Given the description of an element on the screen output the (x, y) to click on. 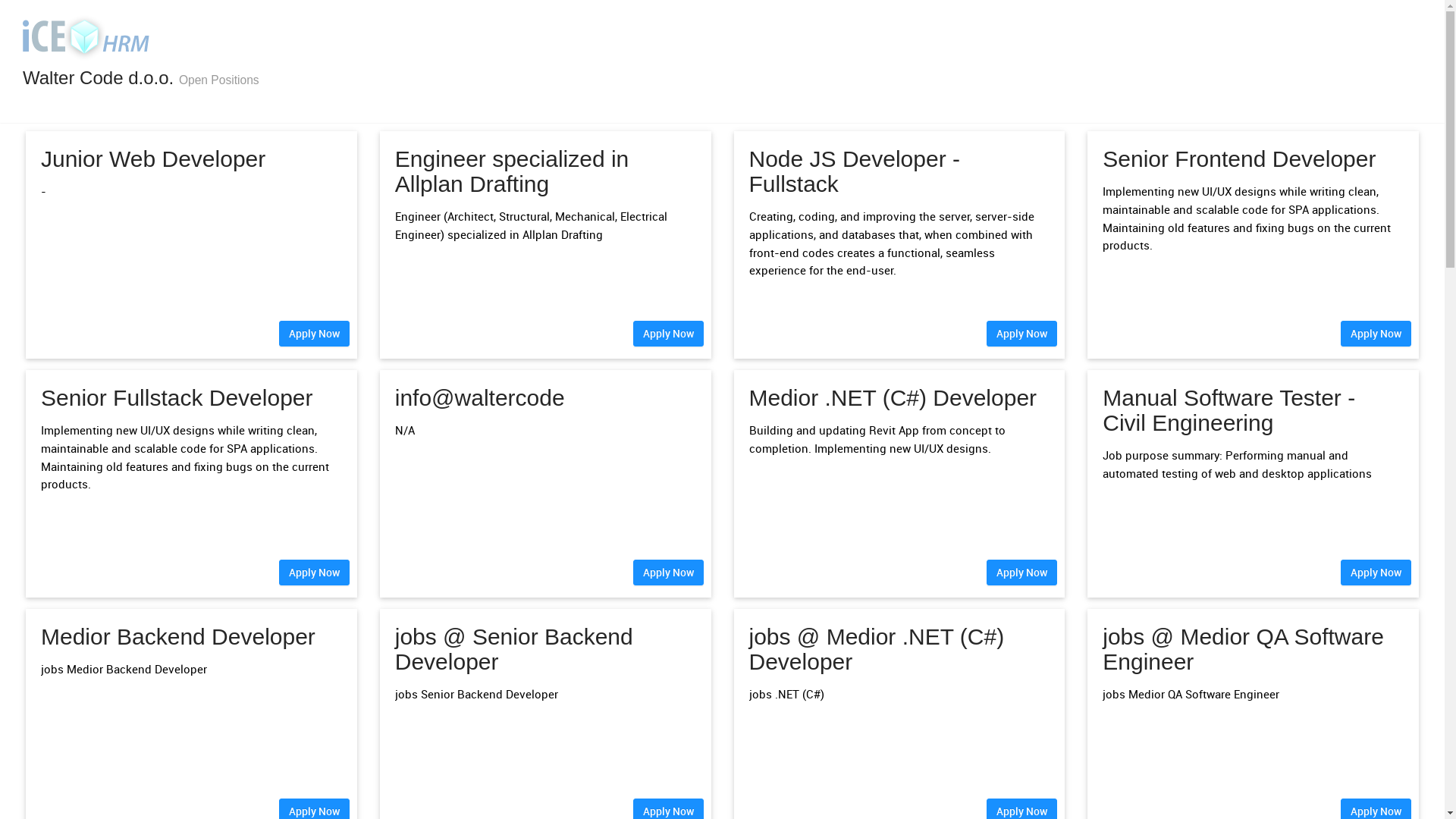
Apply Now Element type: text (314, 333)
Apply Now Element type: text (1021, 572)
Apply Now Element type: text (314, 572)
Apply Now Element type: text (667, 333)
Apply Now Element type: text (1021, 333)
Apply Now Element type: text (1375, 333)
Apply Now Element type: text (667, 572)
Apply Now Element type: text (1375, 572)
